Given the description of an element on the screen output the (x, y) to click on. 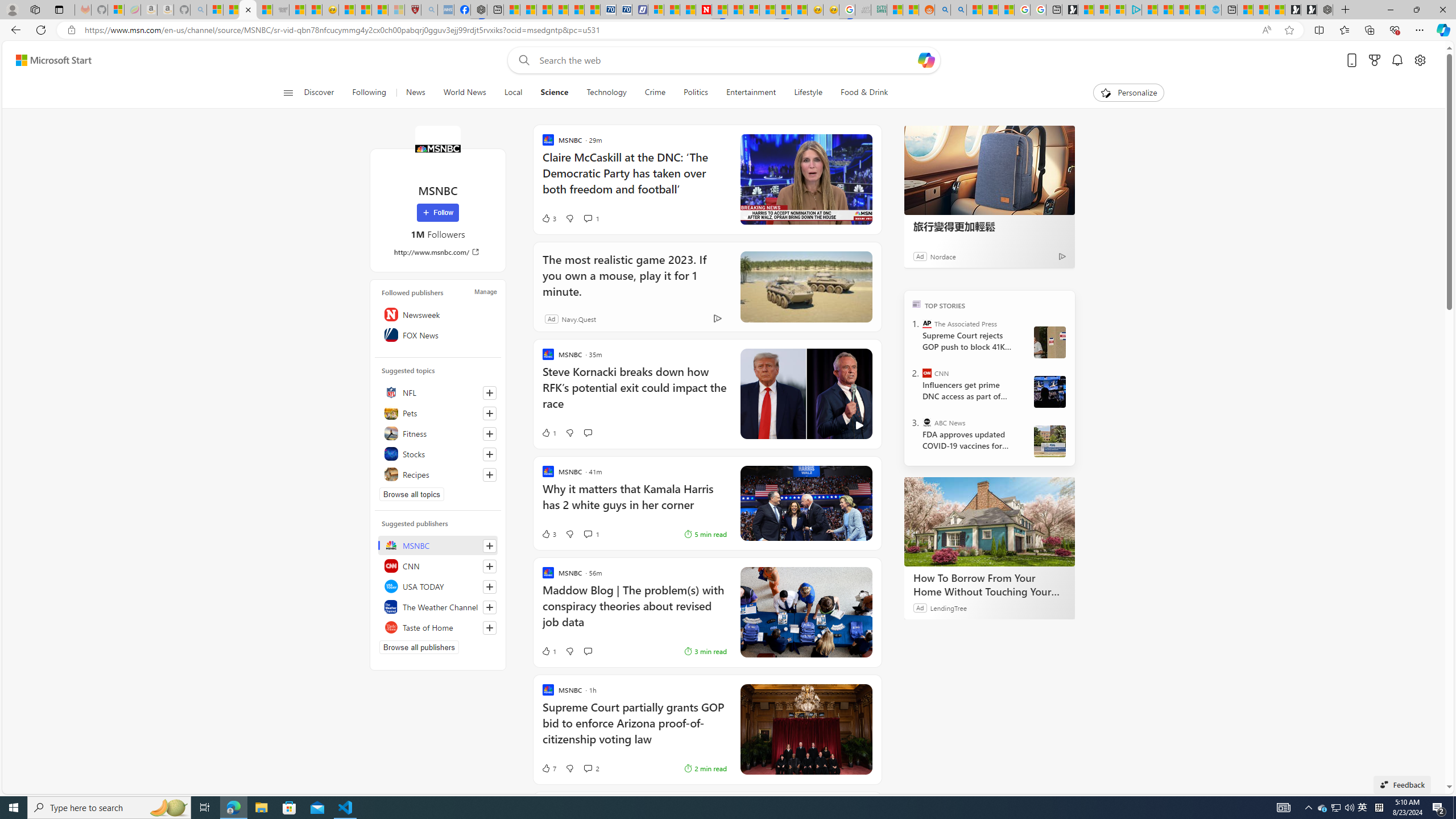
Skip to footer (46, 59)
How To Borrow From Your Home Without Touching Your Mortgage (988, 584)
